Given the description of an element on the screen output the (x, y) to click on. 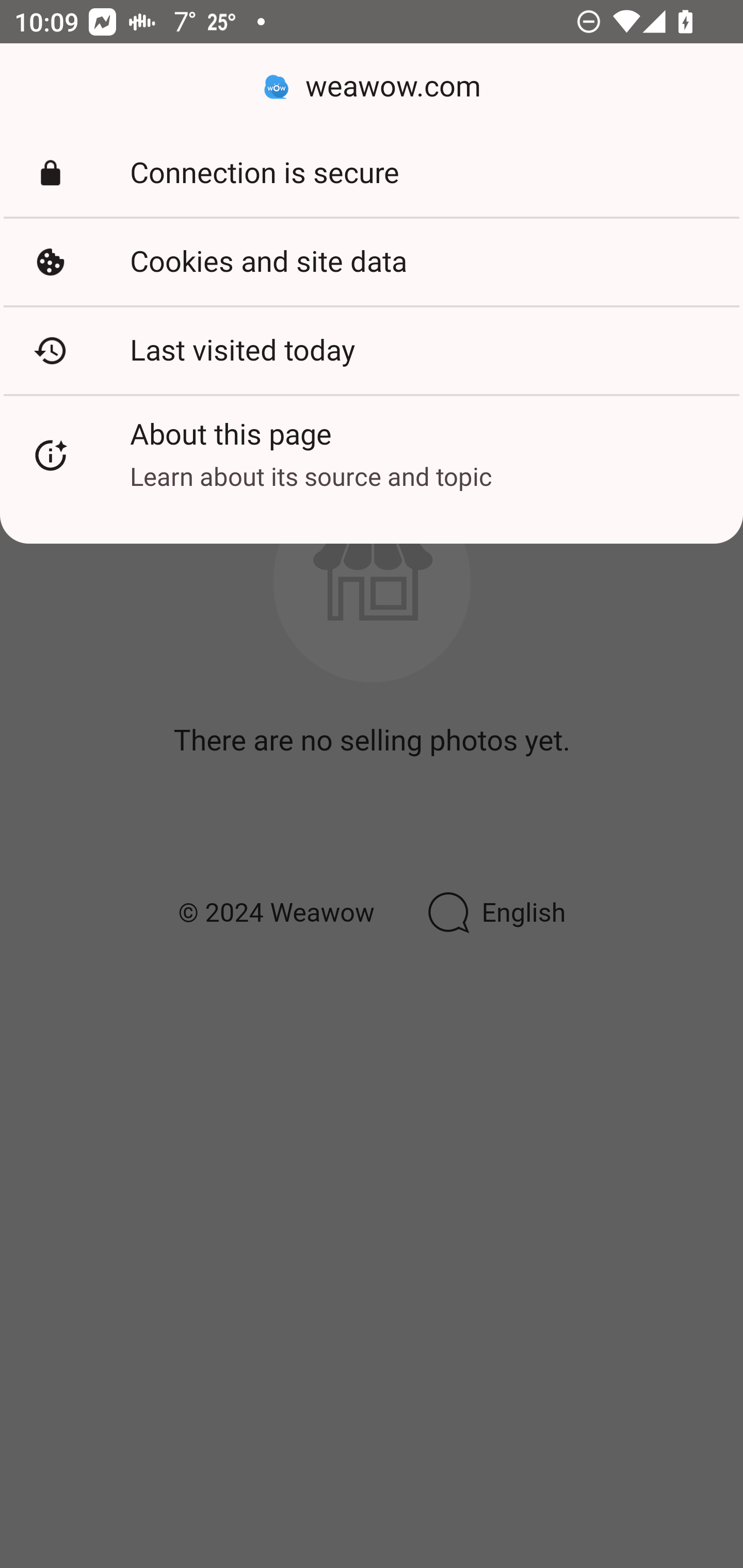
weawow.com (371, 86)
Connection is secure (371, 173)
Cookies and site data (371, 261)
Last visited today (371, 350)
About this page Learn about its source and topic (371, 455)
